Given the description of an element on the screen output the (x, y) to click on. 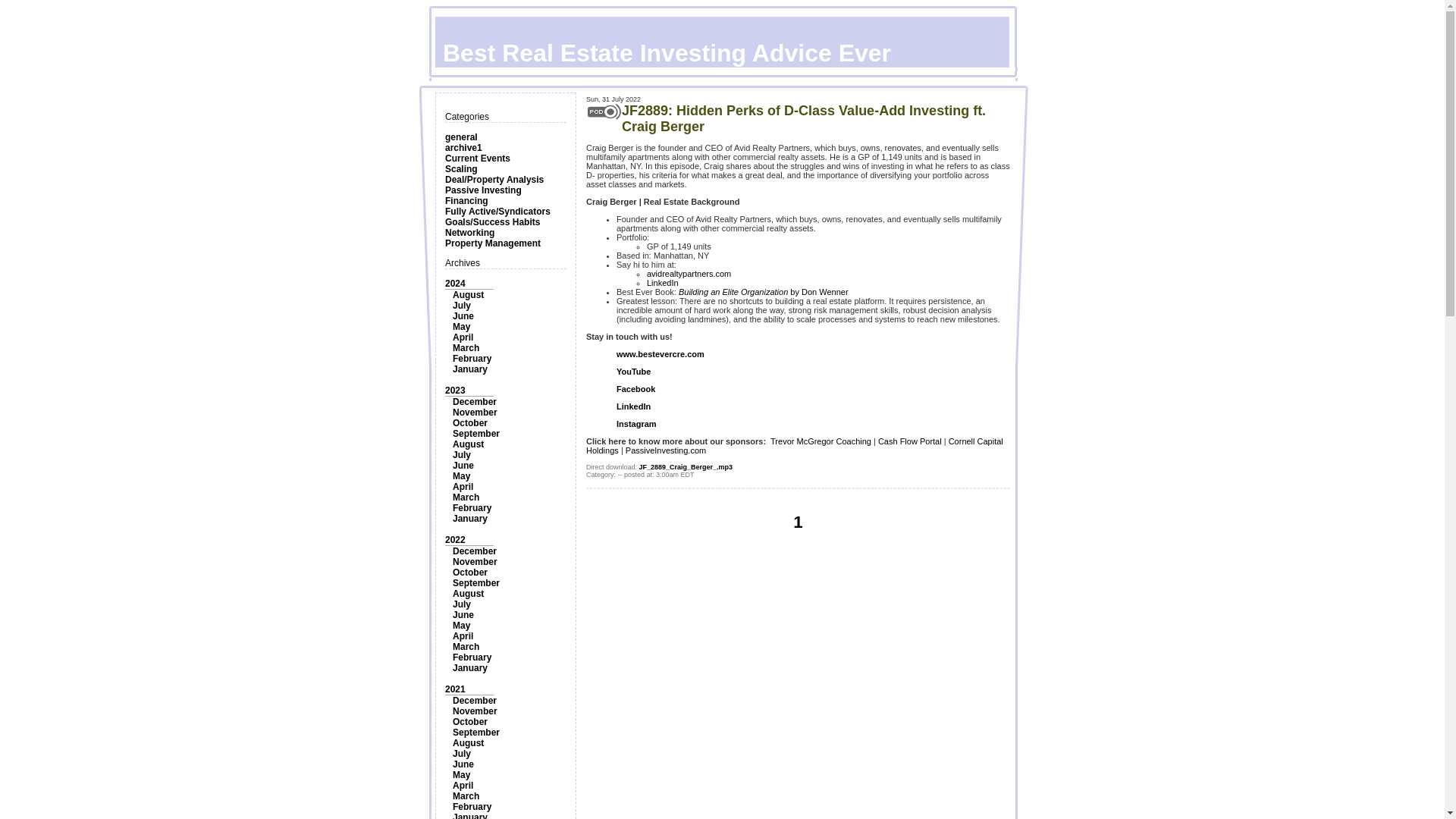
2022 (455, 539)
Current Events (478, 158)
November (474, 412)
April (462, 486)
Financing (466, 200)
October (469, 572)
July (461, 305)
December (474, 401)
January (469, 368)
February (472, 357)
